Given the description of an element on the screen output the (x, y) to click on. 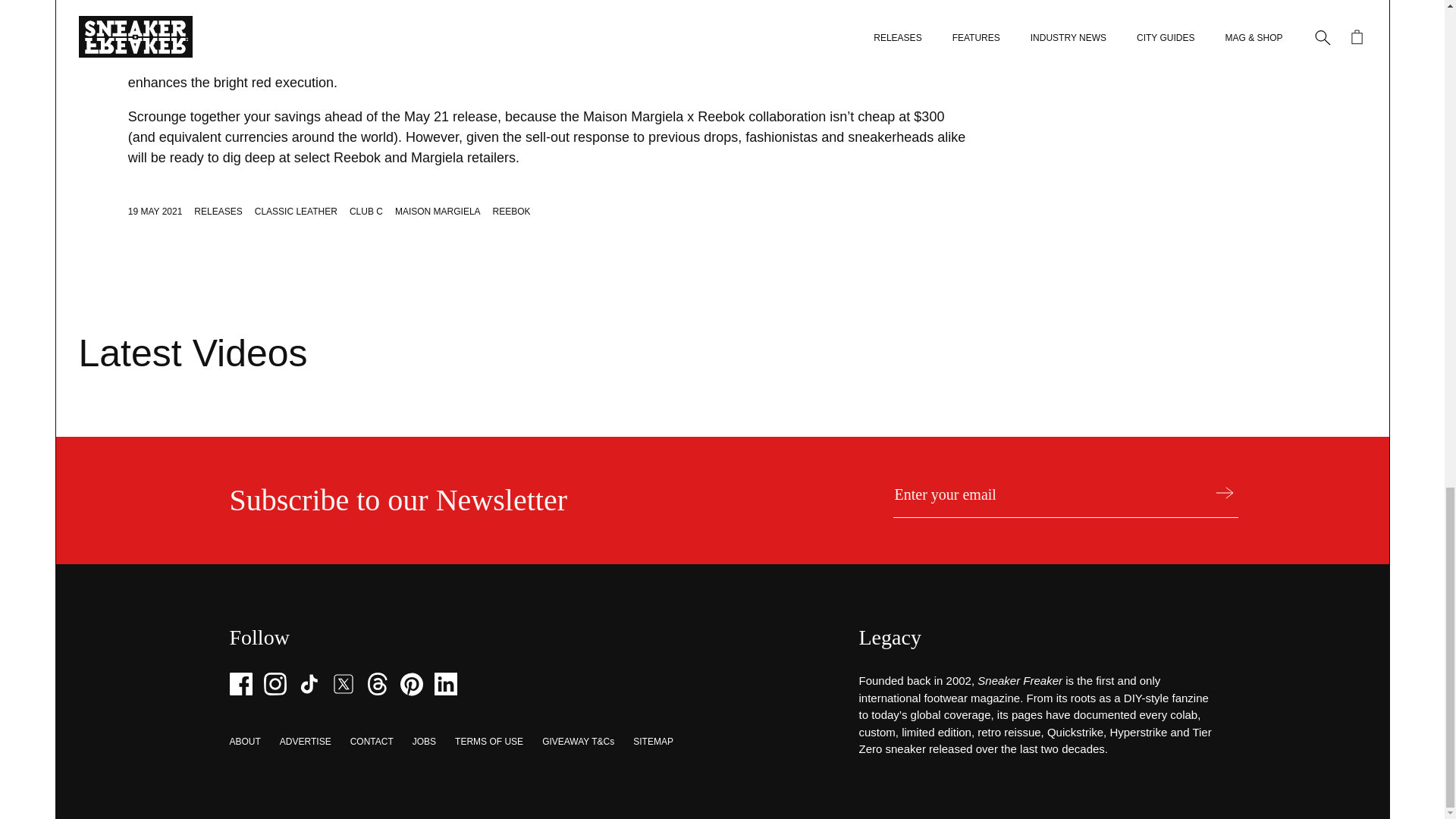
Club C (725, 41)
JOBS (423, 741)
ADVERTISE (305, 741)
REEBOK (512, 211)
ABOUT (244, 741)
CLUB C (365, 211)
RELEASES (217, 211)
CLASSIC LEATHER (295, 211)
MAISON MARGIELA (437, 211)
CONTACT (371, 741)
